Given the description of an element on the screen output the (x, y) to click on. 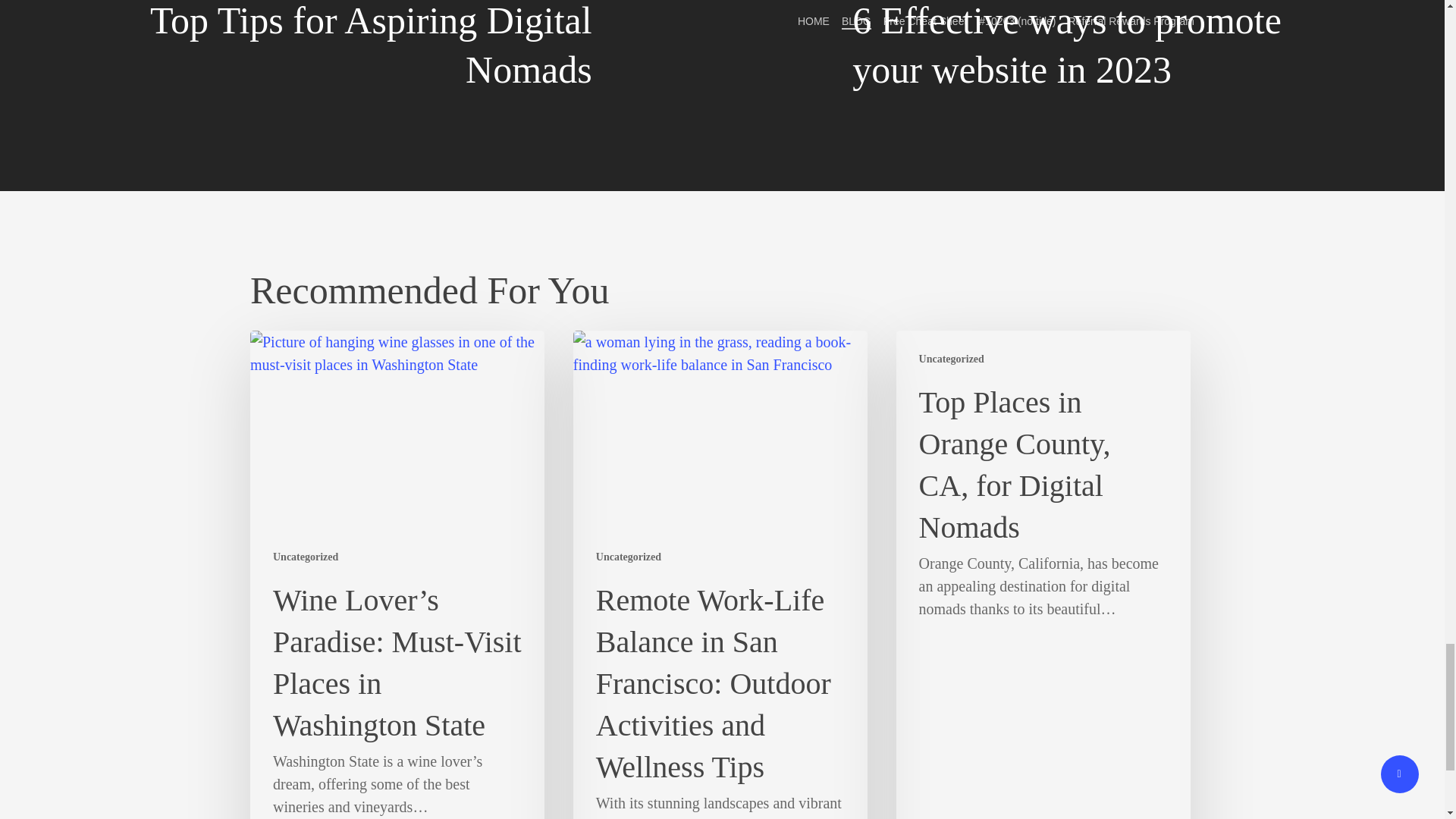
Uncategorized (951, 359)
Uncategorized (305, 556)
Uncategorized (628, 556)
